Given the description of an element on the screen output the (x, y) to click on. 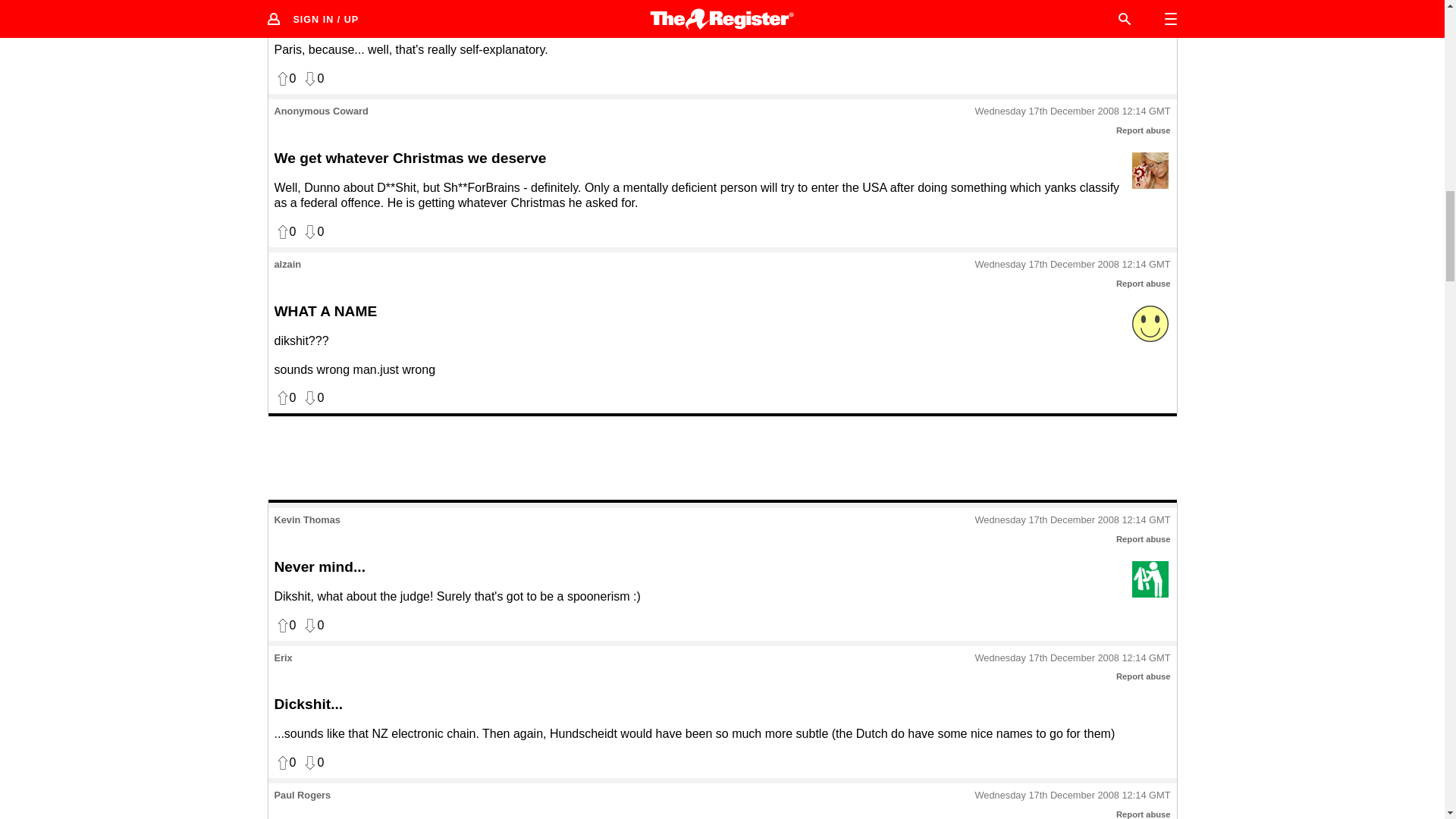
Report abuse (1143, 675)
Report abuse (1143, 814)
Report abuse (1143, 283)
Report abuse (1143, 538)
Report abuse (1143, 130)
